Given the description of an element on the screen output the (x, y) to click on. 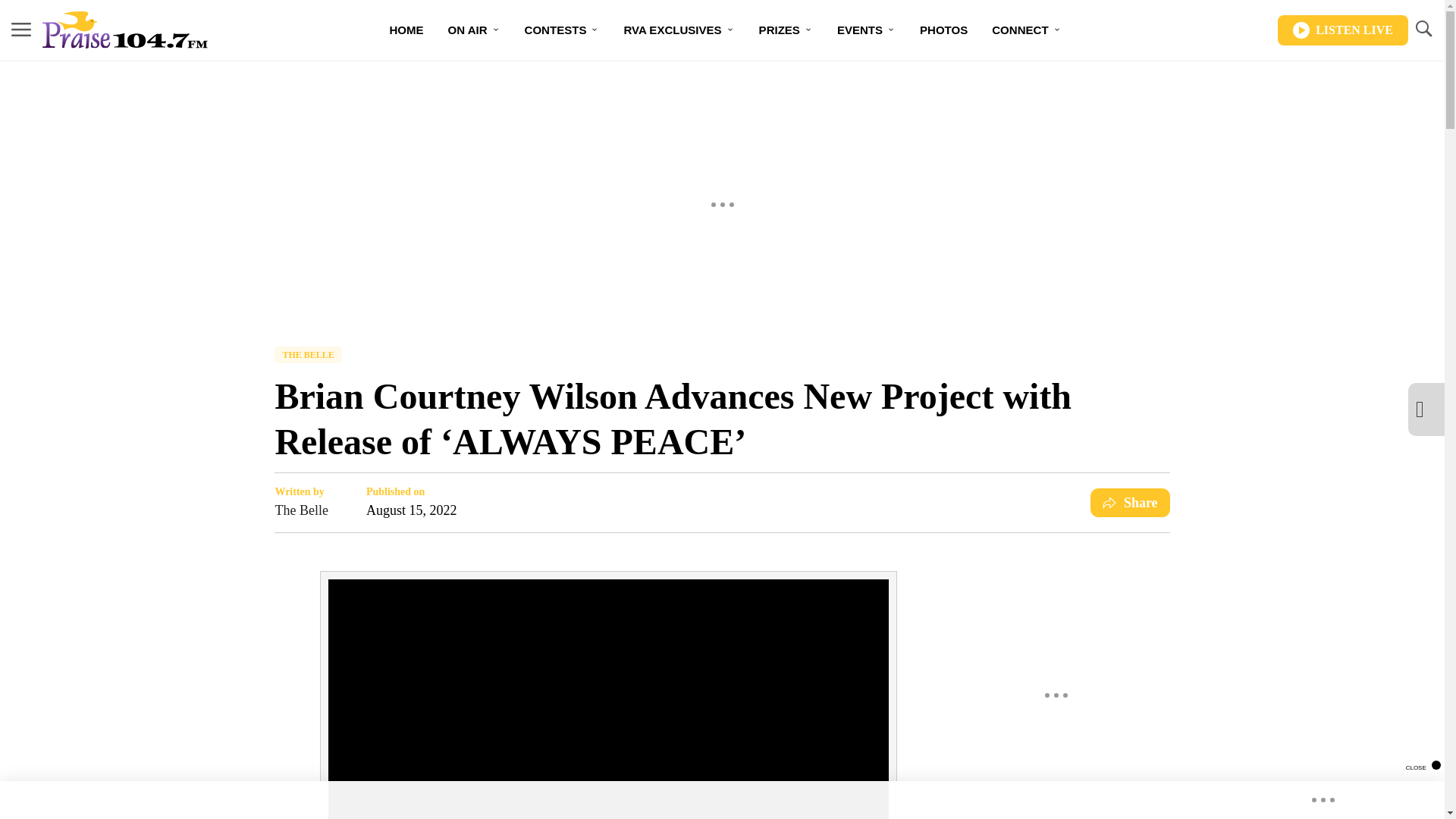
CONNECT (1026, 30)
RVA EXCLUSIVES (678, 30)
MENU (20, 29)
PHOTOS (943, 30)
HOME (406, 30)
MENU (20, 30)
ON AIR (473, 30)
EVENTS (866, 30)
CONTESTS (561, 30)
TOGGLE SEARCH (1422, 28)
